Given the description of an element on the screen output the (x, y) to click on. 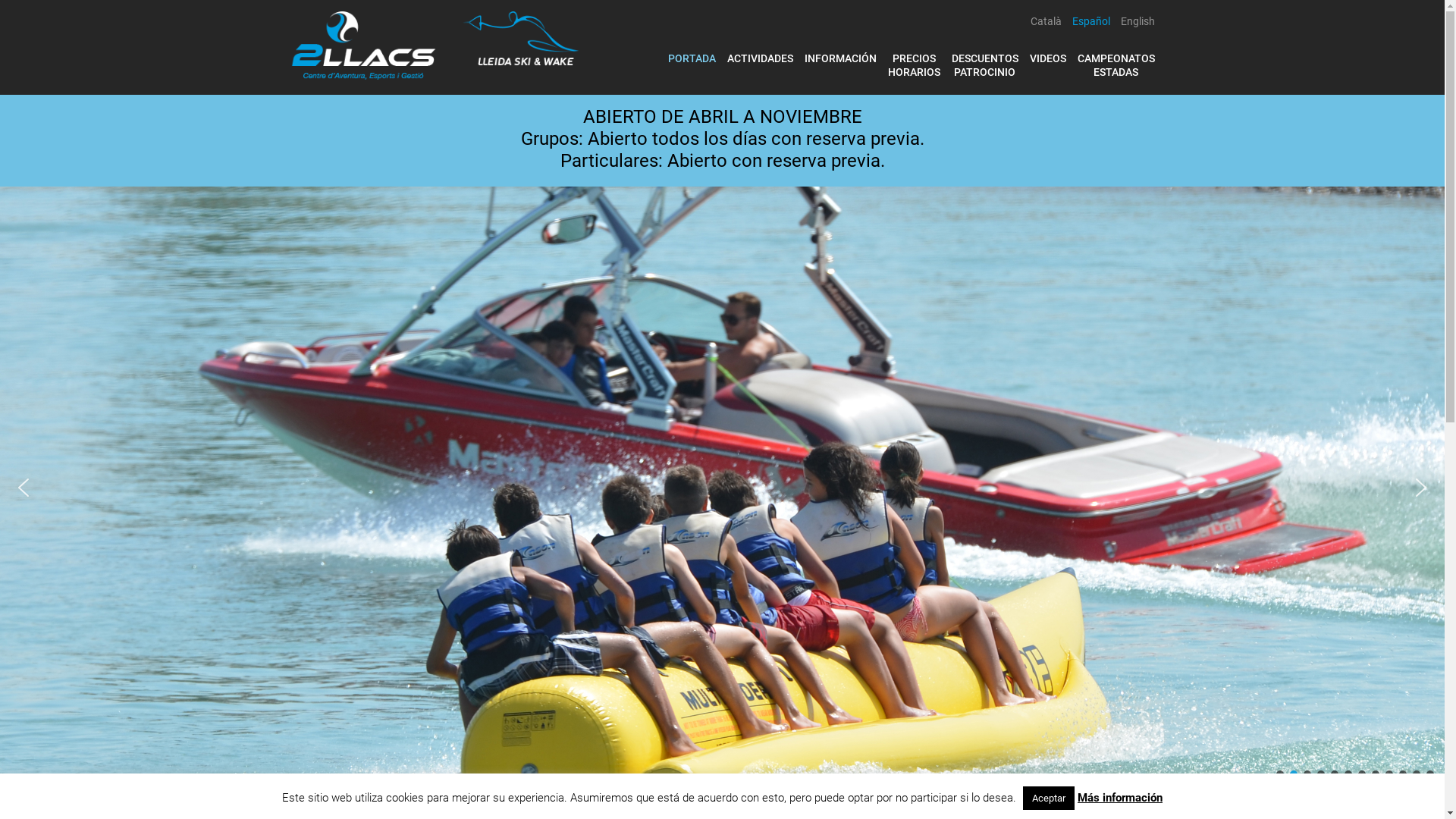
Aceptar Element type: text (1048, 797)
ACTIVIDADES Element type: text (759, 58)
PRECIOS
HORARIOS Element type: text (913, 64)
2Llacs Element type: hover (433, 44)
CAMPEONATOS
ESTADAS Element type: text (1115, 64)
DESCUENTOS
PATROCINIO Element type: text (983, 64)
VIDEOS Element type: text (1047, 58)
PORTADA Element type: text (691, 58)
English Element type: text (1137, 21)
